Given the description of an element on the screen output the (x, y) to click on. 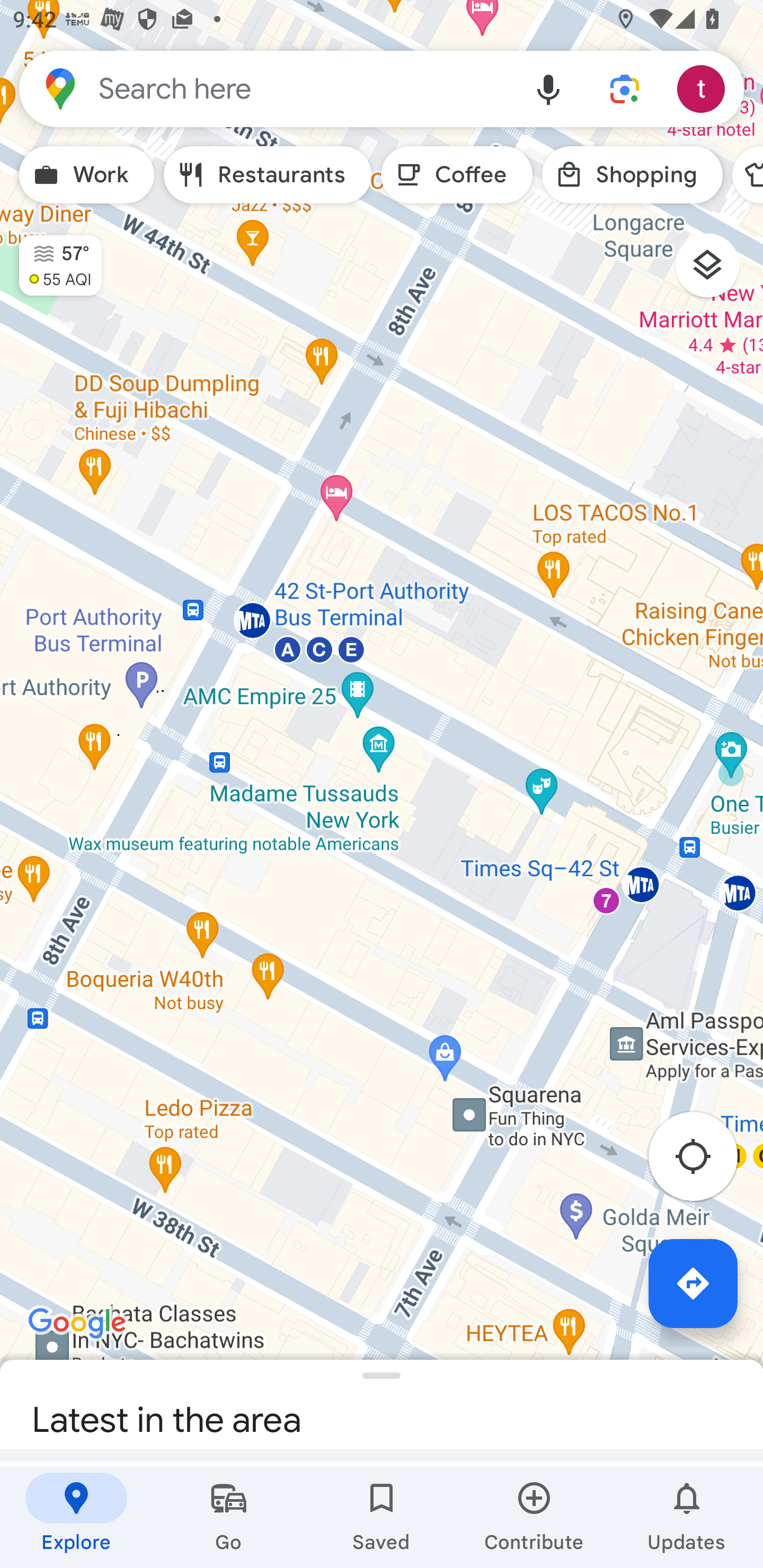
Search here (264, 88)
Voice search (548, 88)
Lens in Maps (624, 88)
Account and settings. (703, 88)
Work (86, 174)
Restaurants Search for Restaurants (267, 174)
Coffee Search for Coffee (456, 174)
Shopping Search for Shopping (631, 174)
Mist, 57°, Moderate, 55 AQI 57° 55 AQI (50, 257)
Layers (716, 271)
Re-center map to your location (702, 1161)
Directions (692, 1283)
Go (228, 1517)
Saved (381, 1517)
Contribute (533, 1517)
Updates (686, 1517)
